Given the description of an element on the screen output the (x, y) to click on. 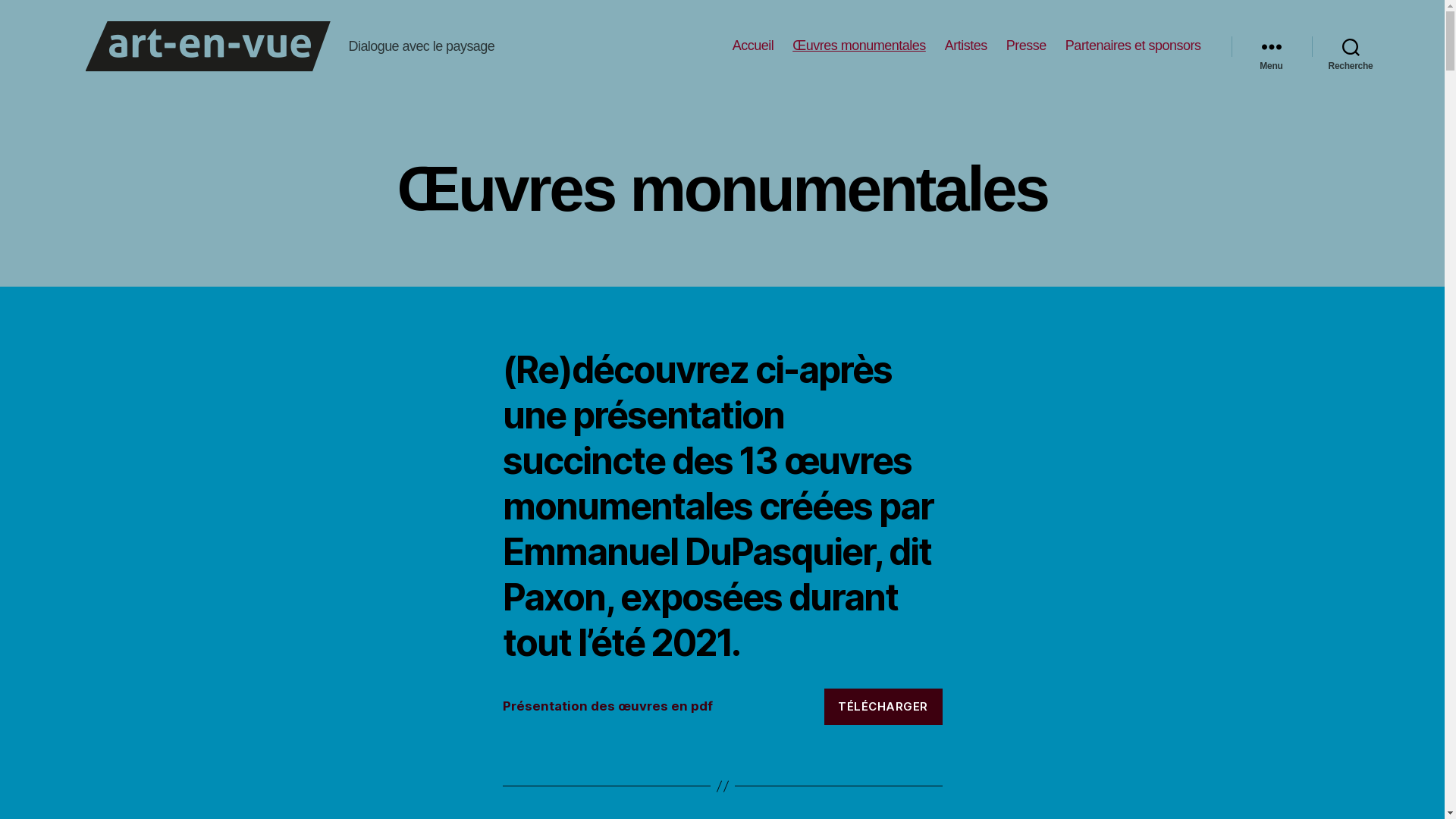
Menu Element type: text (1271, 45)
Accueil Element type: text (753, 45)
Recherche Element type: text (1350, 45)
Presse Element type: text (1026, 45)
Artistes Element type: text (965, 45)
Partenaires et sponsors Element type: text (1133, 45)
